Given the description of an element on the screen output the (x, y) to click on. 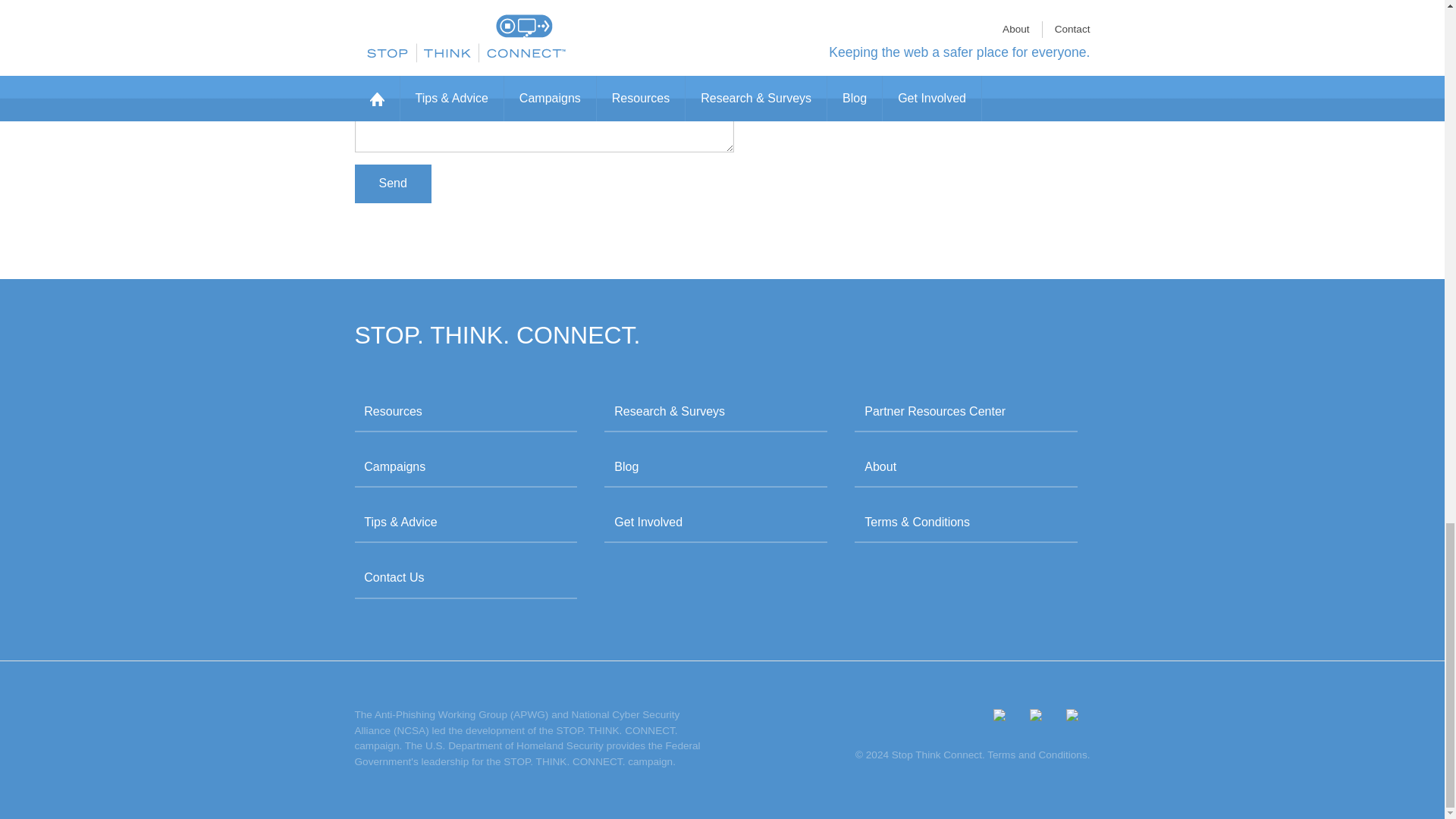
Partner Resources Center (965, 412)
Blog (715, 467)
Send (392, 183)
About (965, 467)
Campaigns (466, 467)
Terms and Conditions (1036, 754)
Get Involved (715, 522)
Contact Us (466, 577)
Resources (466, 412)
